Given the description of an element on the screen output the (x, y) to click on. 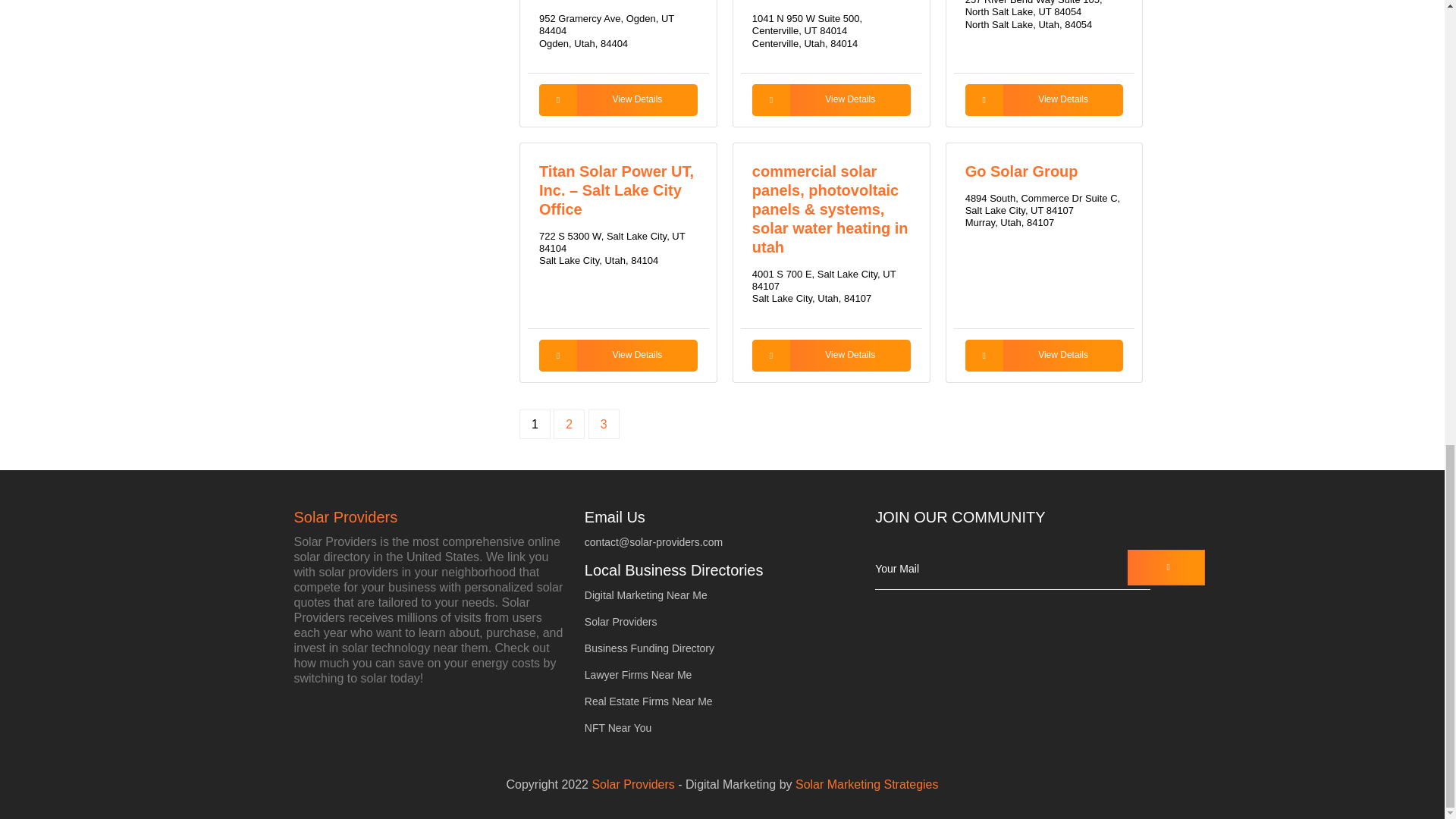
View Details (617, 355)
View Details (831, 100)
Digital Marketing Near Me (646, 594)
2 (569, 423)
Solar Providers (431, 517)
Go Solar Group (1021, 170)
View Details (1044, 100)
Business Funding Directory (649, 647)
View Details (831, 355)
Solar Providers (621, 621)
Real Estate Firms Near Me (649, 700)
3 (604, 423)
Lawyer Firms Near Me (639, 674)
View Details (617, 100)
View Details (1044, 355)
